Given the description of an element on the screen output the (x, y) to click on. 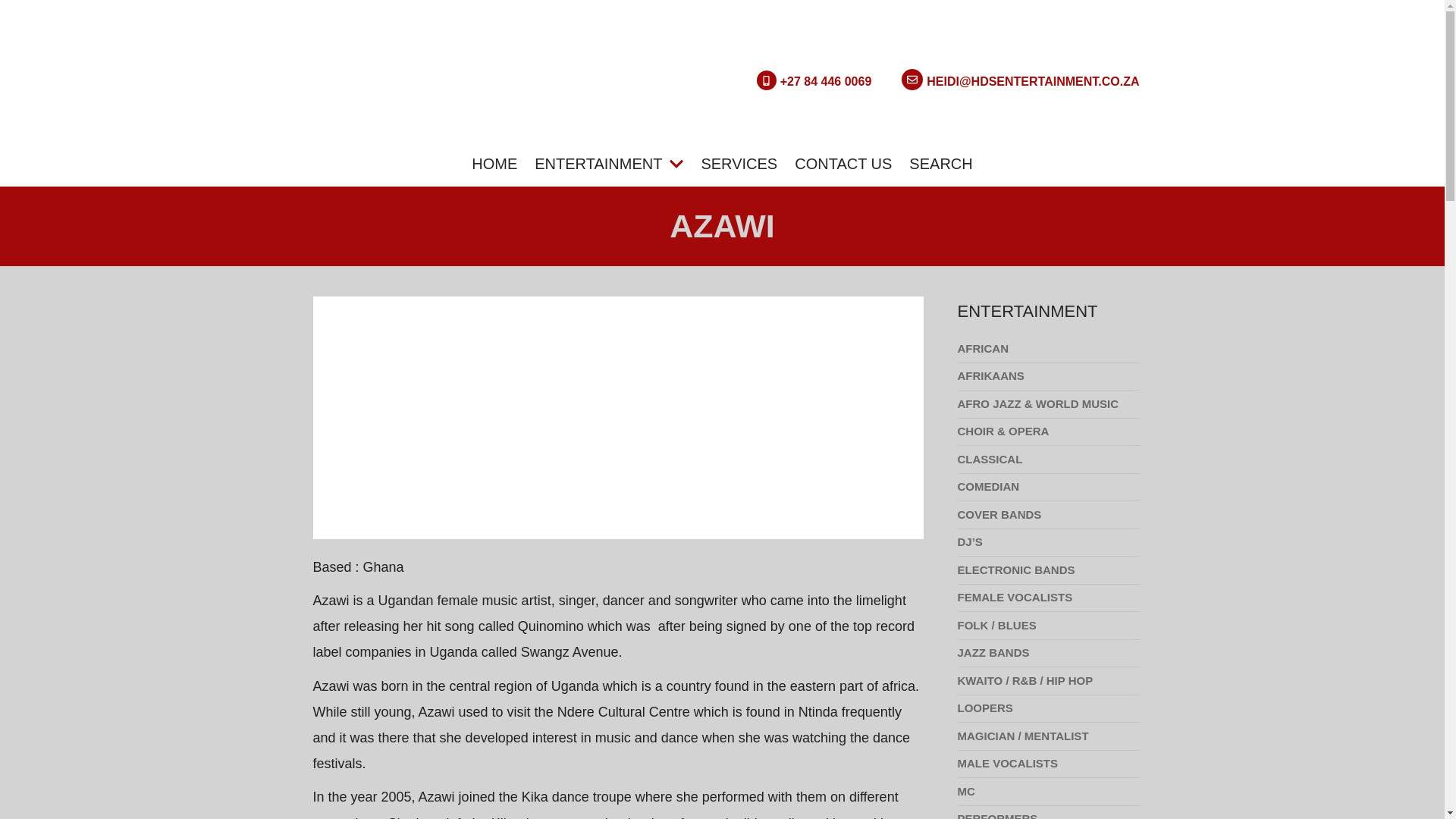
SEARCH (940, 163)
HOME (493, 163)
ENTERTAINMENT (608, 163)
SERVICES (738, 163)
AFRICAN (1047, 348)
CONTACT US (842, 163)
